Given the description of an element on the screen output the (x, y) to click on. 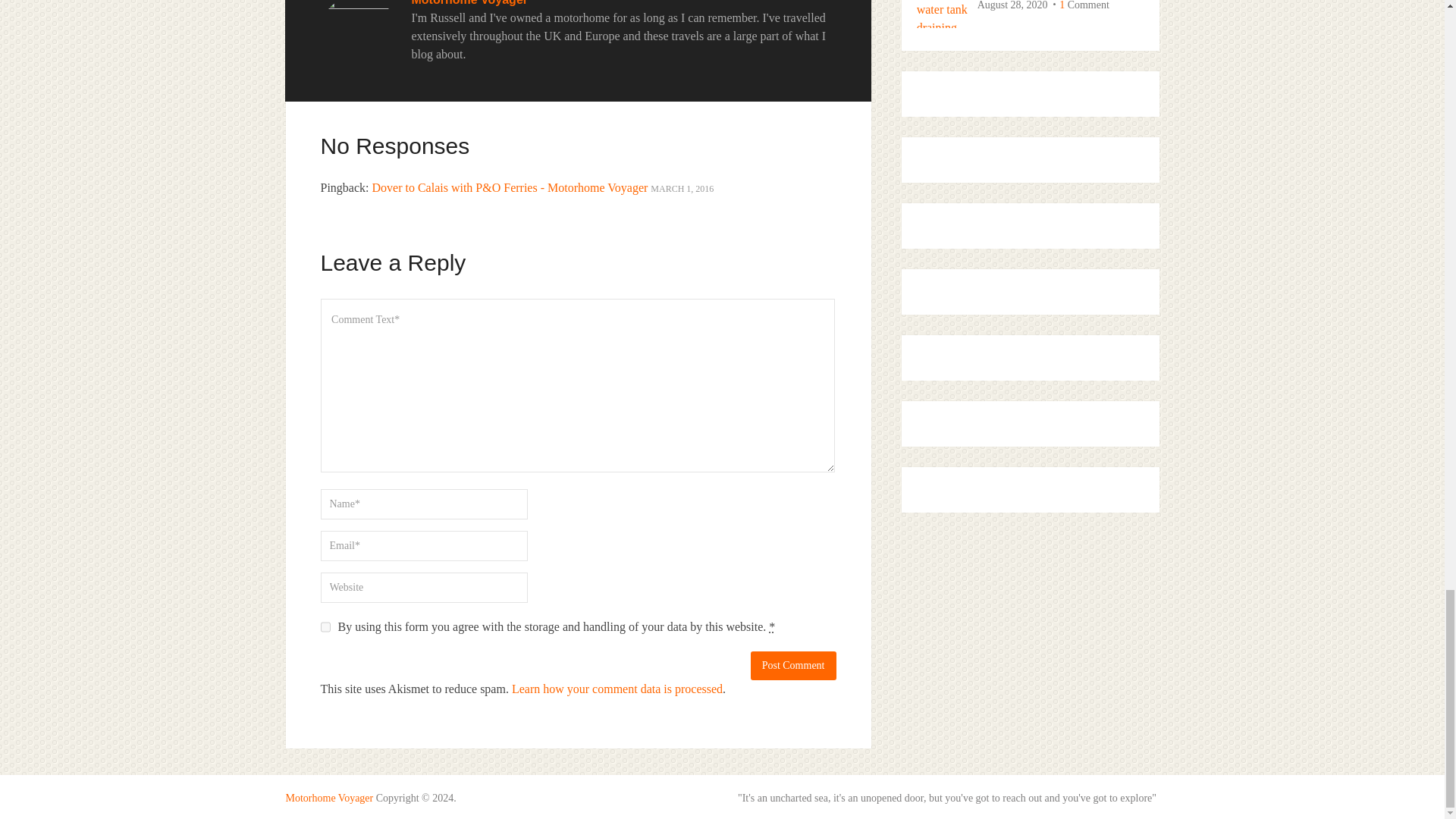
Learn how your comment data is processed (617, 688)
Post Comment (793, 665)
Motorhome Voyager (468, 2)
Post Comment (793, 665)
